Given the description of an element on the screen output the (x, y) to click on. 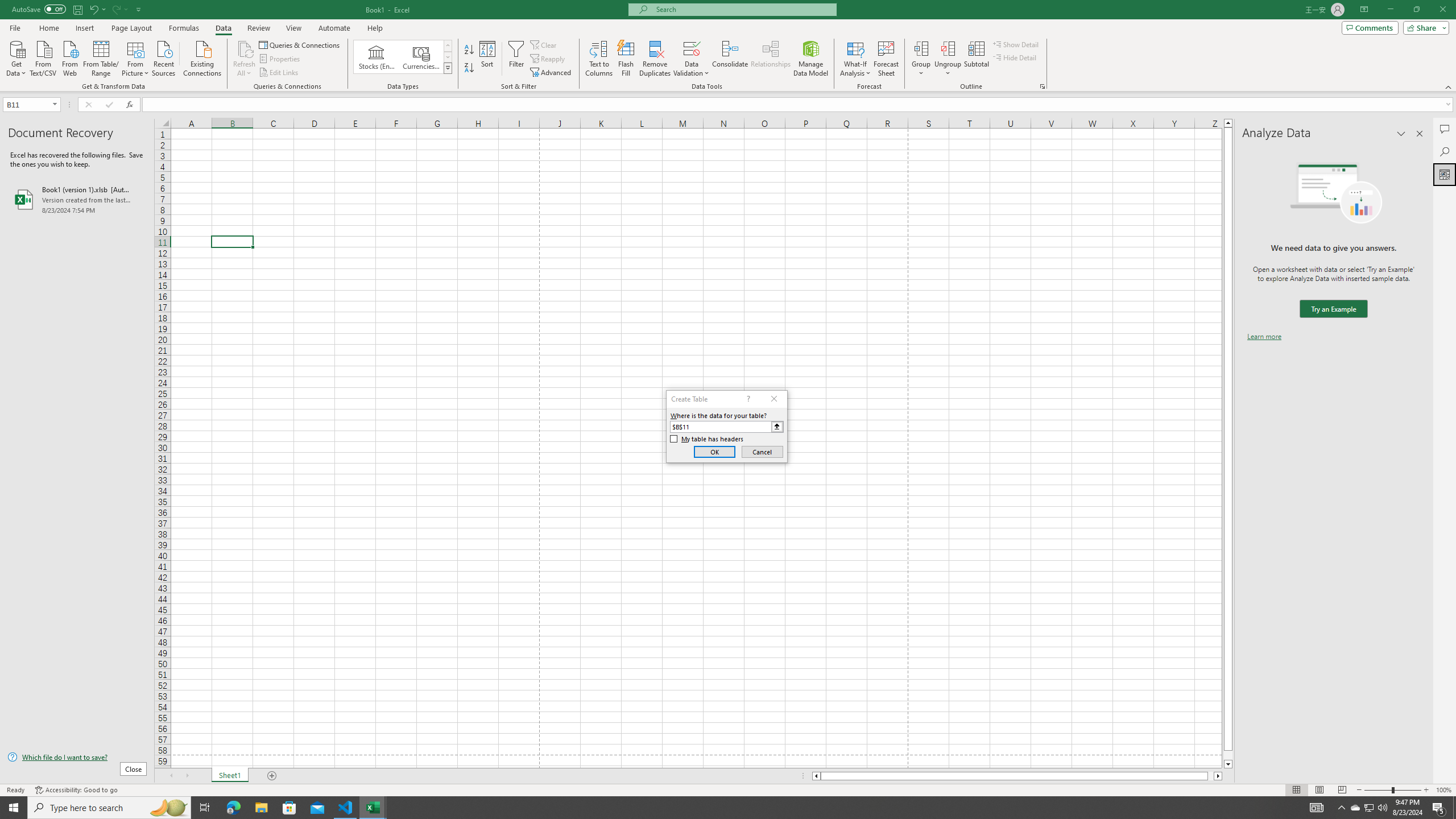
Data (223, 28)
Name Box (30, 104)
Row up (448, 45)
Sort... (487, 58)
Class: NetUIImage (447, 68)
Sort Z to A (469, 67)
Scroll Right (187, 775)
We need data to give you answers. Try an Example (1333, 308)
Page right (1211, 775)
Page Break Preview (1342, 790)
Close (1442, 9)
Analyze Data (1444, 173)
Page Layout (131, 28)
AutoSave (38, 9)
Group... (921, 58)
